Given the description of an element on the screen output the (x, y) to click on. 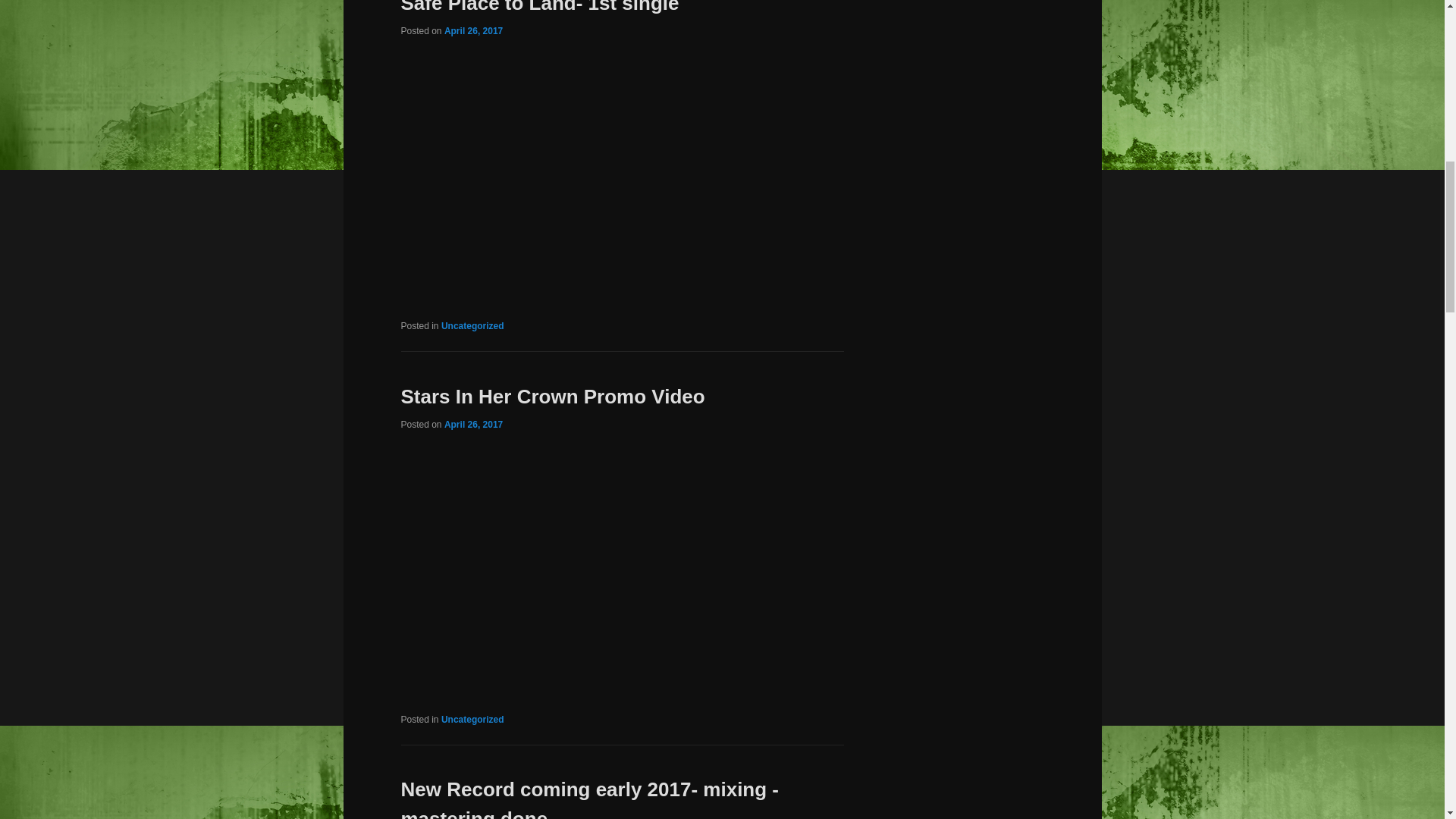
7:02 pm (473, 423)
April 26, 2017 (473, 423)
Uncategorized (472, 326)
New Record coming early 2017- mixing -mastering done (589, 798)
Stars In Her Crown Promo Video (552, 395)
7:37 pm (473, 30)
Safe Place to Land- 1st single (539, 7)
Uncategorized (472, 719)
April 26, 2017 (473, 30)
